Given the description of an element on the screen output the (x, y) to click on. 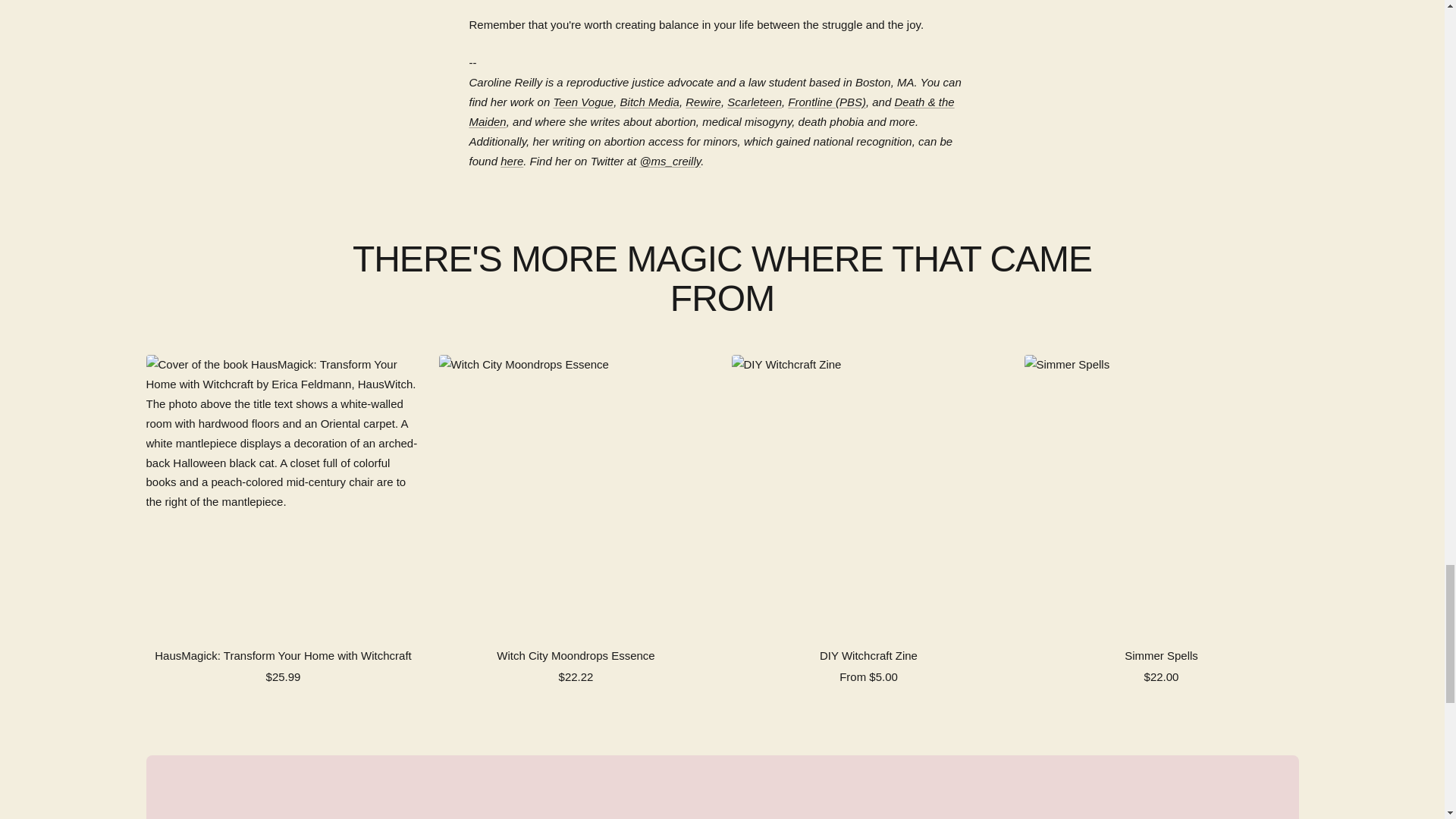
Scarleteen (753, 101)
Teen Vogue (582, 101)
HausMagick: Transform Your Home with Witchcraft (282, 656)
Bitch Media (649, 101)
Rewire (702, 101)
here (511, 160)
